Given the description of an element on the screen output the (x, y) to click on. 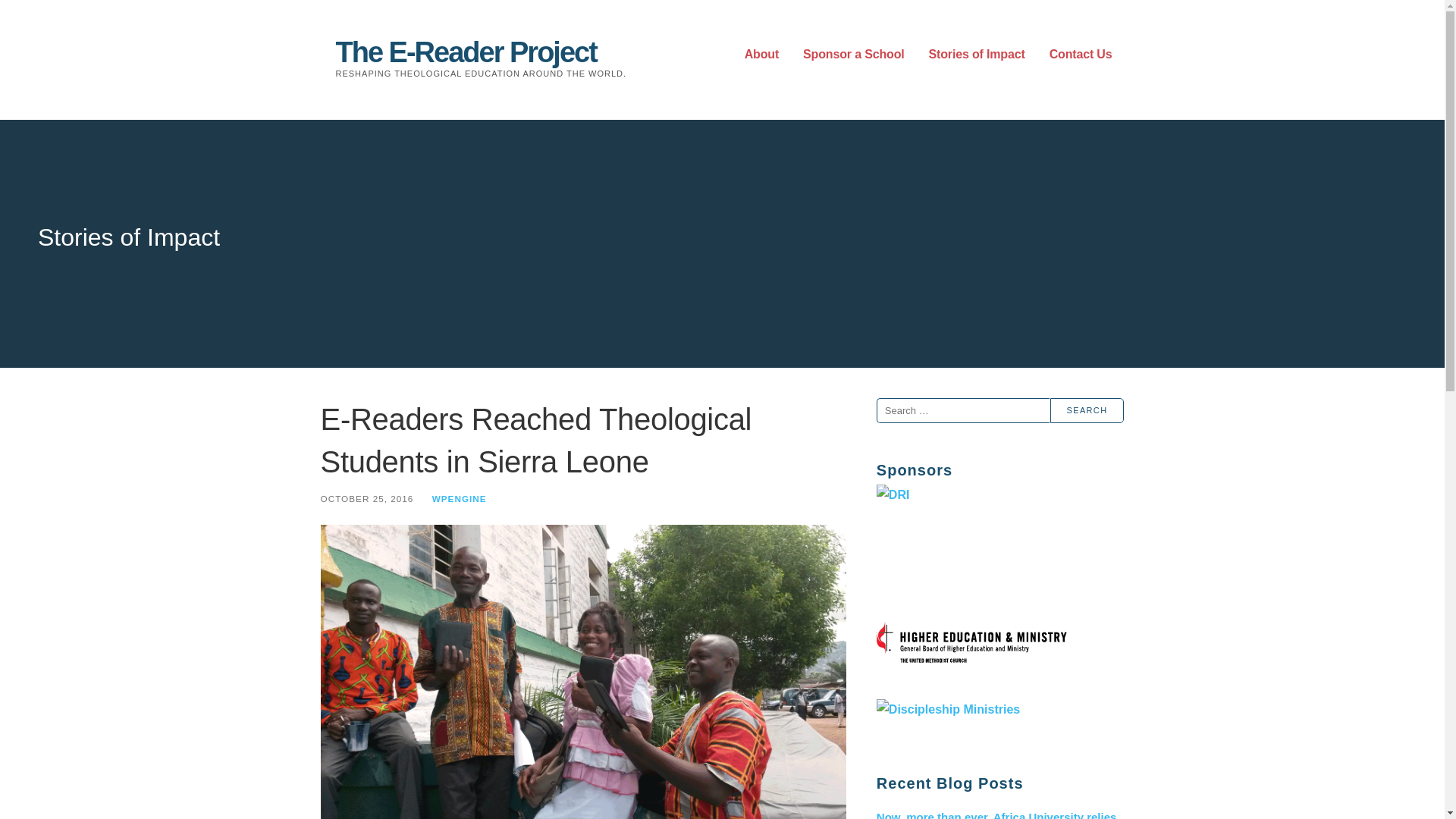
Sponsor a School (853, 55)
WPENGINE (459, 498)
Search (1086, 410)
Contact Us (1080, 55)
About (761, 55)
Stories of Impact (976, 55)
The E-Reader Project (464, 51)
Search (1086, 410)
Posts by wpengine (459, 498)
